Given the description of an element on the screen output the (x, y) to click on. 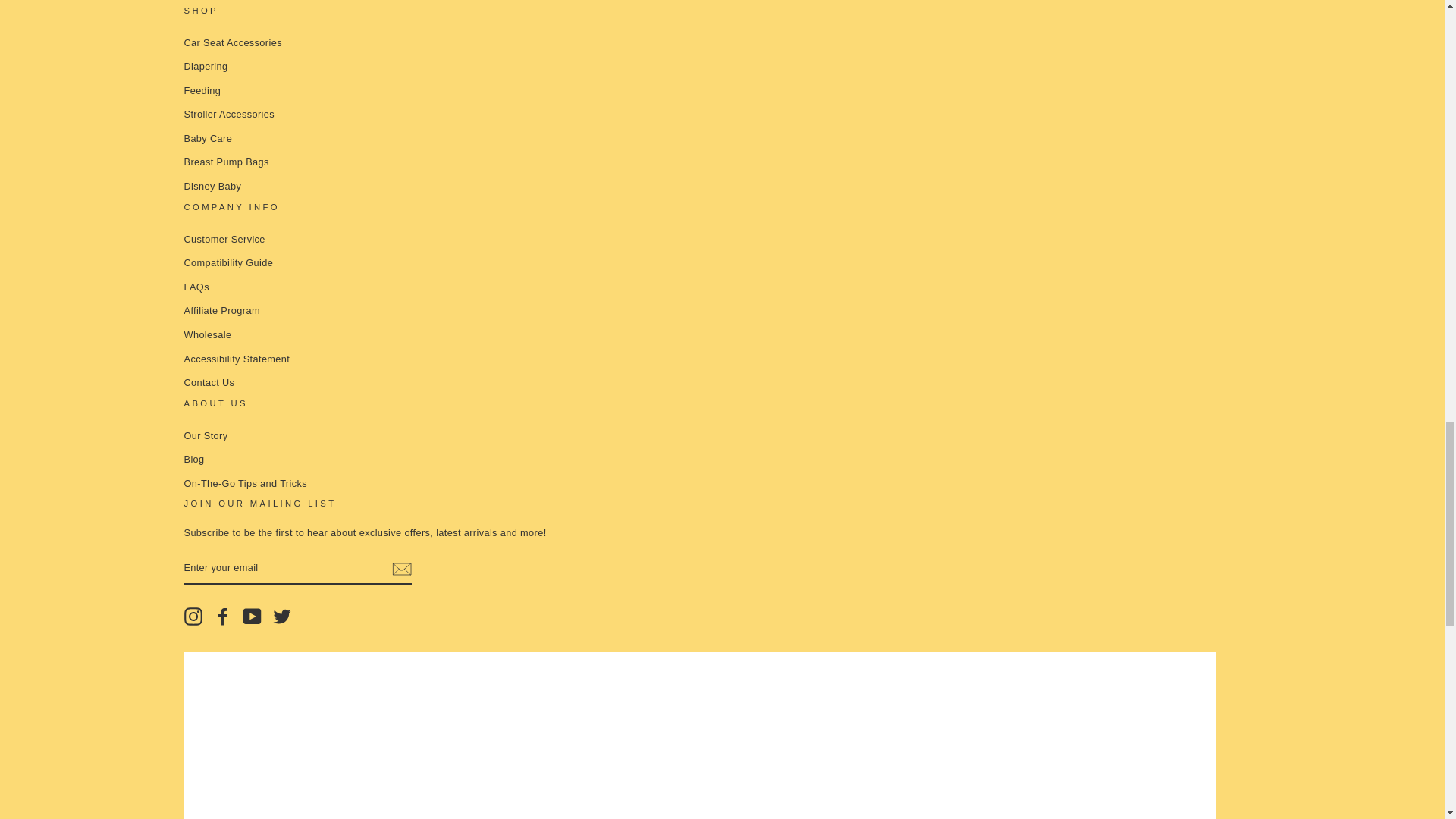
jlchildress on Twitter (282, 616)
jlchildress on Facebook (222, 616)
jlchildress on Instagram (192, 616)
jlchildress on YouTube (251, 616)
